Given the description of an element on the screen output the (x, y) to click on. 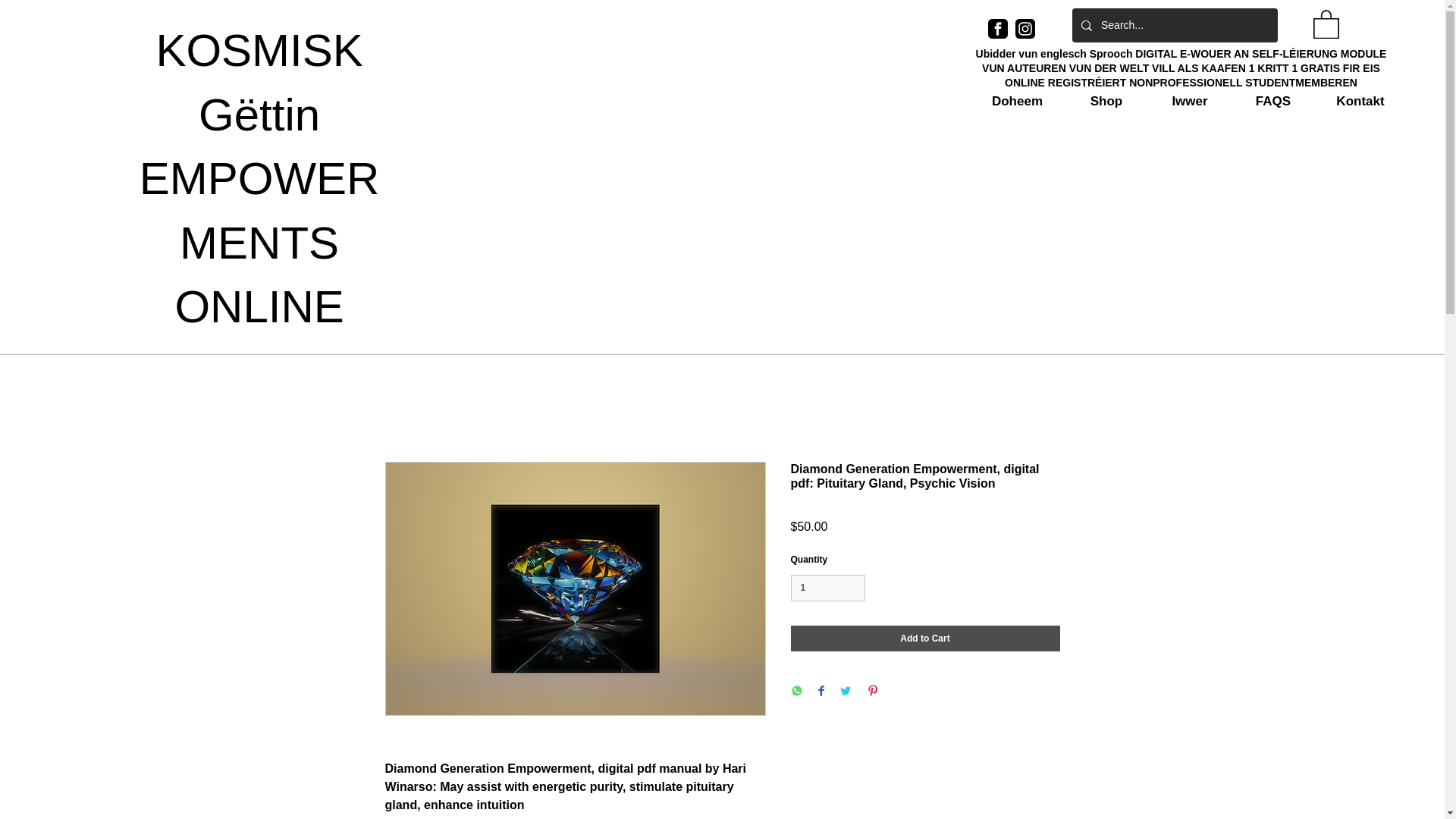
Doheem (1017, 101)
Add to Cart (924, 638)
Kontakt (1360, 101)
FAQS (1272, 101)
1 (827, 587)
